Given the description of an element on the screen output the (x, y) to click on. 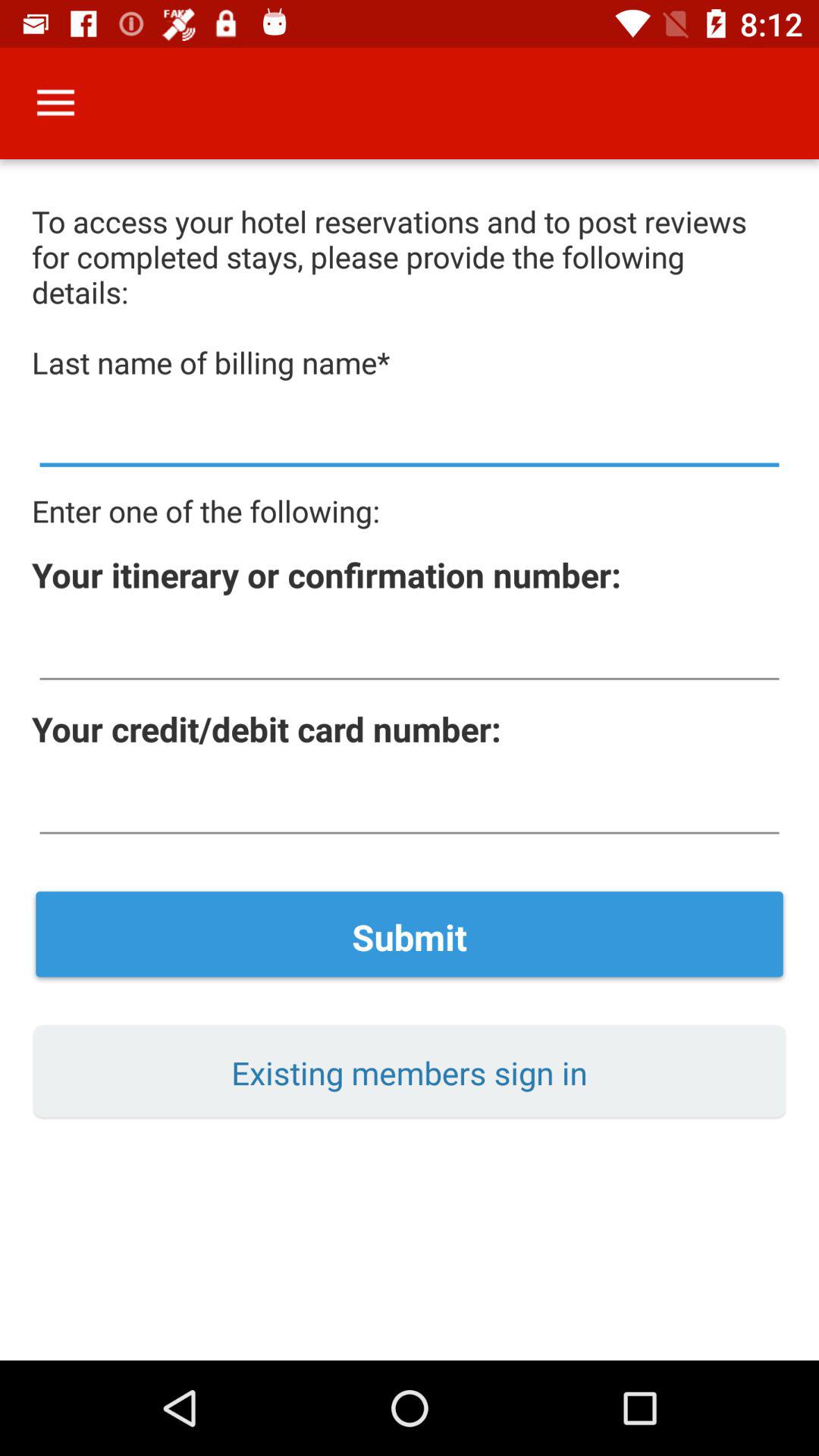
credit card number free text field (409, 805)
